Given the description of an element on the screen output the (x, y) to click on. 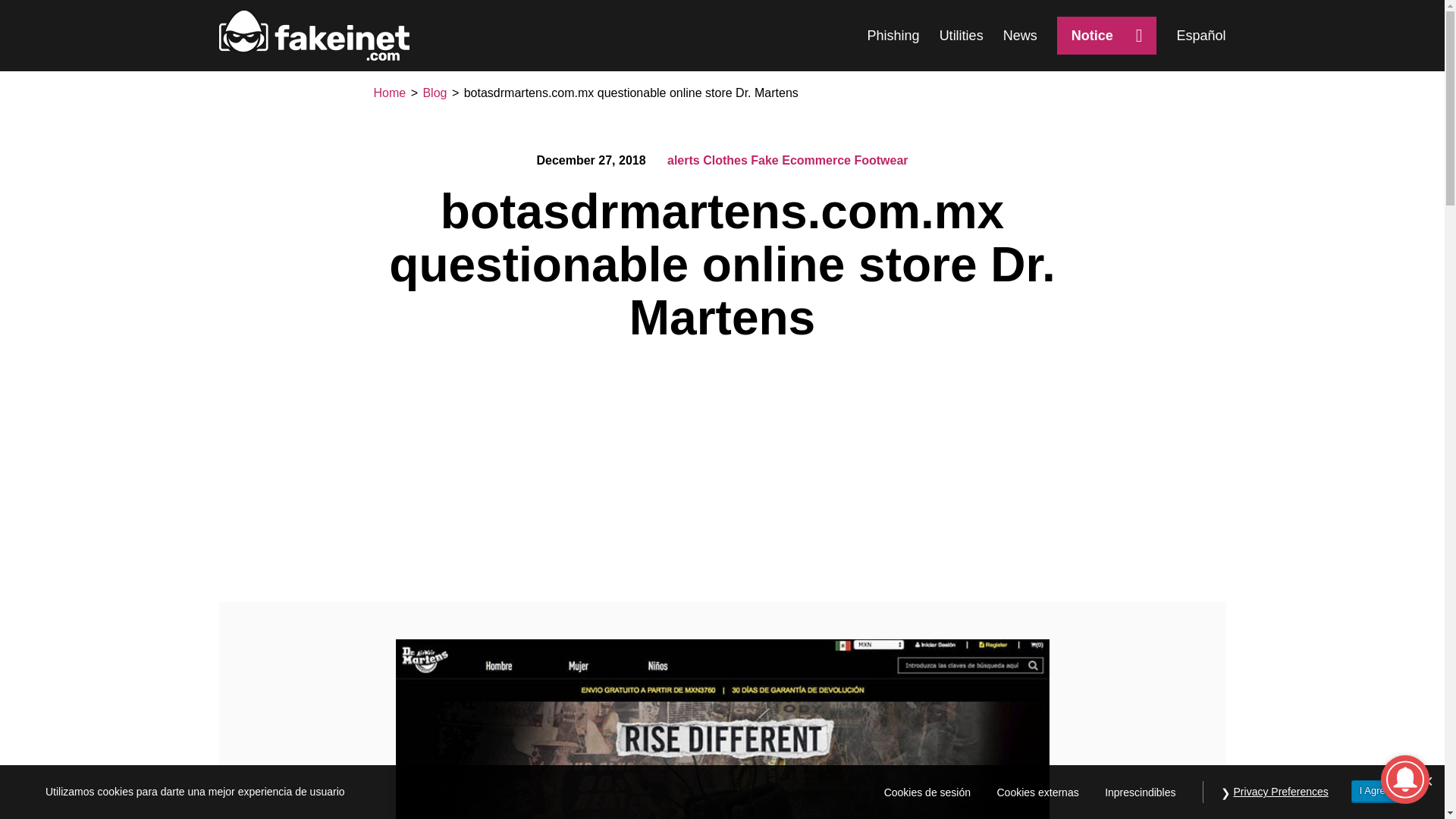
Privacy Preferences (1280, 791)
alerts (683, 160)
Home (389, 92)
Phishing (893, 35)
Footwear (880, 160)
Blog (434, 92)
Clothes (725, 160)
Fake Ecommerce (800, 160)
Utilities (961, 35)
I Agree (1375, 791)
News (1019, 35)
Notice (1107, 35)
